Given the description of an element on the screen output the (x, y) to click on. 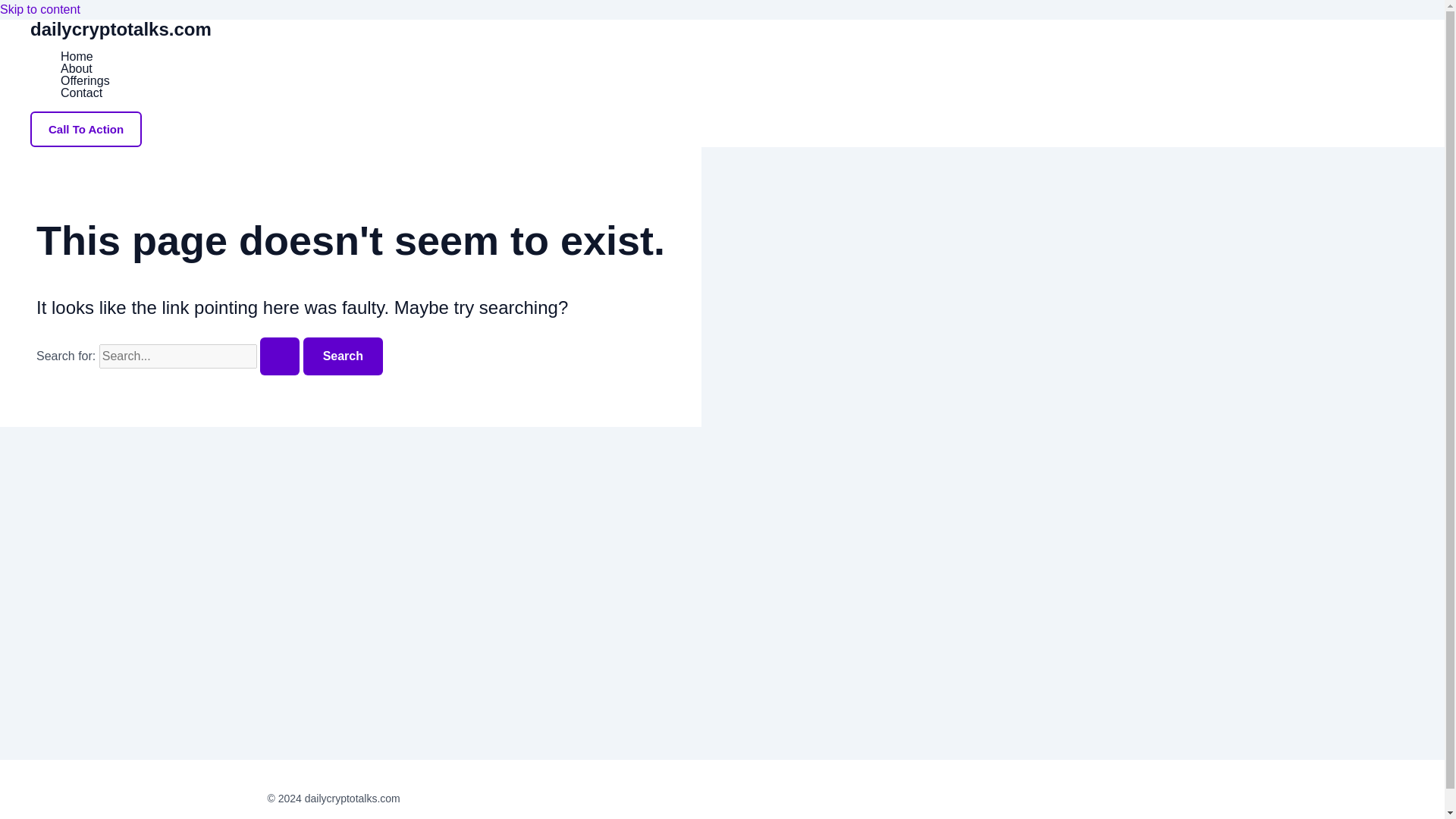
dailycryptotalks.com (120, 28)
Offerings (85, 80)
About (85, 69)
Skip to content (40, 9)
Call To Action (85, 129)
Search (342, 356)
Skip to content (40, 9)
Contact (85, 92)
Search (342, 356)
Home (85, 56)
